Given the description of an element on the screen output the (x, y) to click on. 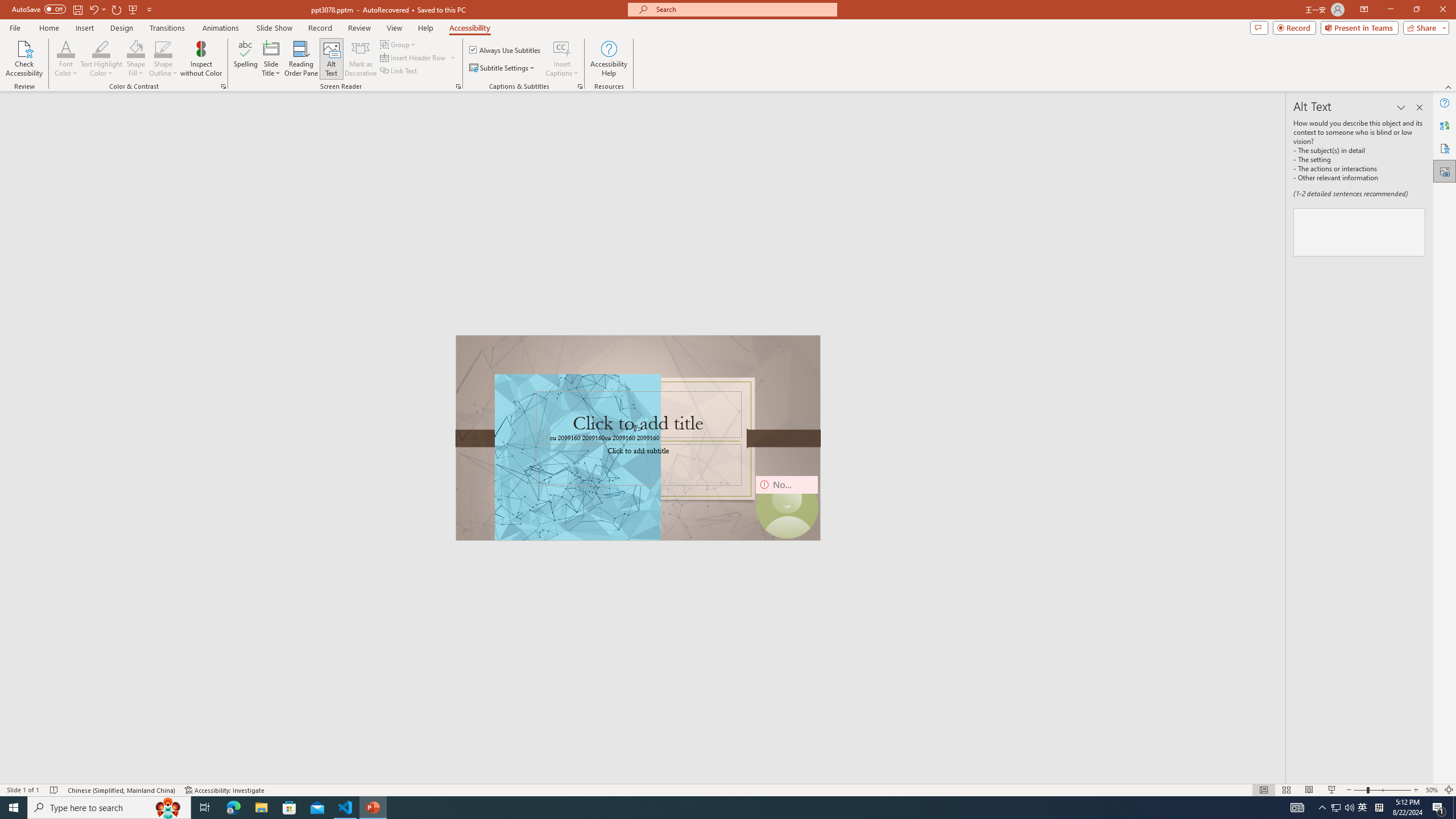
Description (1358, 231)
An abstract genetic concept (637, 437)
Shape Outline (163, 58)
Inspect without Color (201, 58)
TextBox 61 (637, 438)
